Given the description of an element on the screen output the (x, y) to click on. 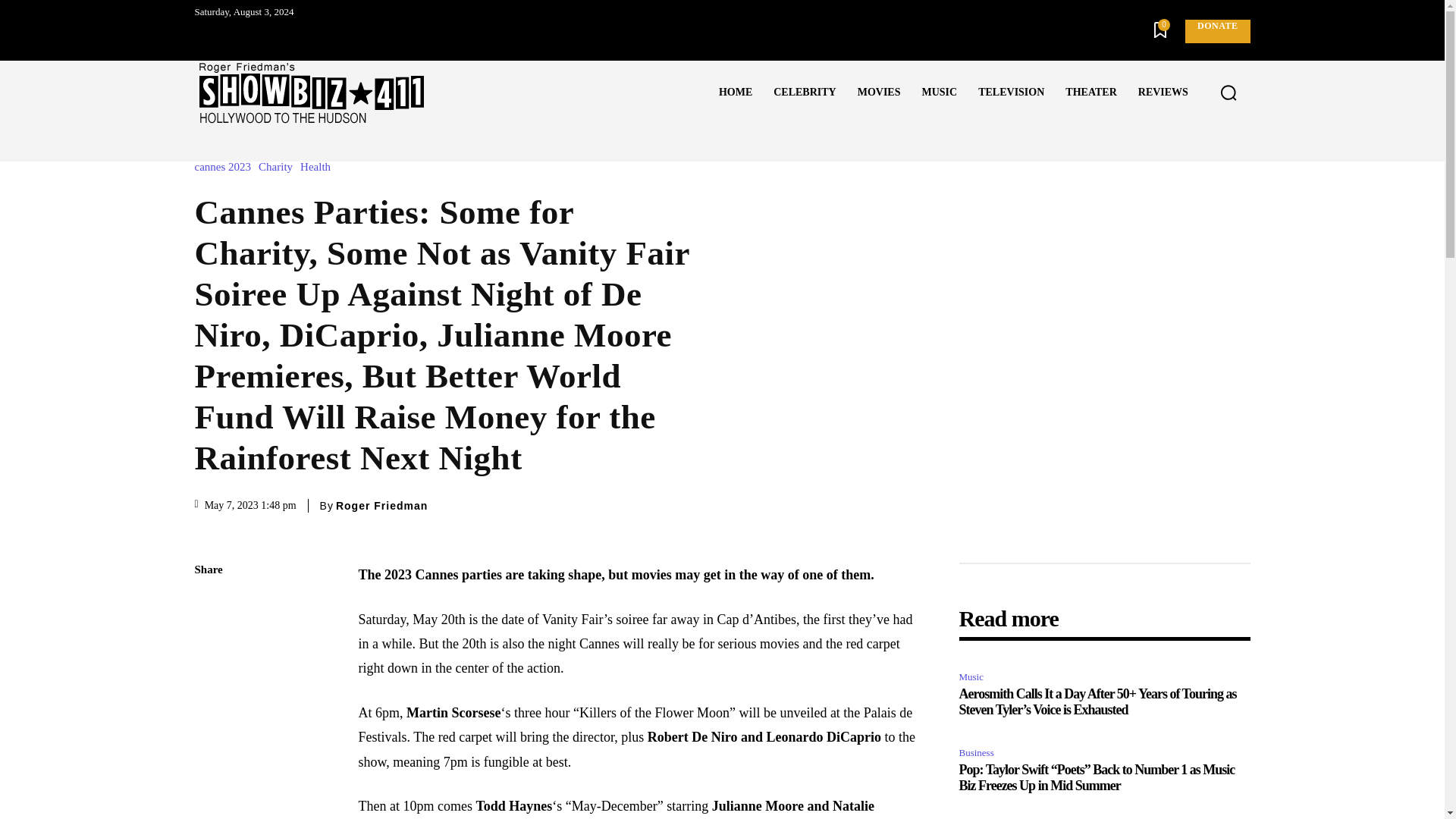
CELEBRITY (803, 92)
DONATE (1217, 31)
THEATER (1090, 92)
TELEVISION (1011, 92)
HOME (734, 92)
cannes 2023 (226, 166)
MUSIC (939, 92)
Donate (1217, 31)
REVIEWS (1162, 92)
MOVIES (879, 92)
